Given the description of an element on the screen output the (x, y) to click on. 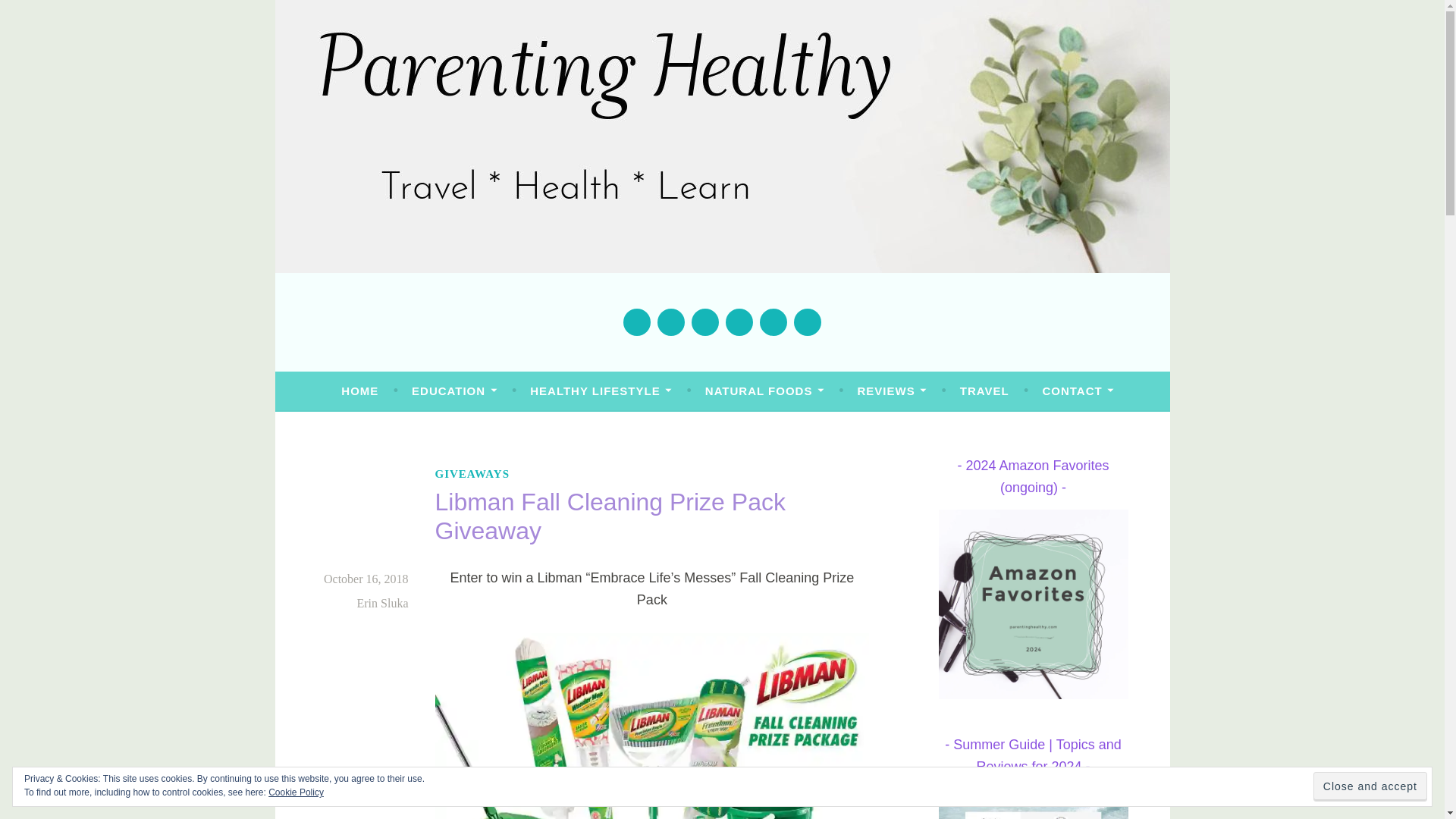
Pinterest (739, 322)
REVIEWS (892, 390)
TRAVEL (984, 390)
Twitter (670, 322)
Close and accept (1369, 786)
YouTube (772, 322)
Erin Sluka (381, 603)
Libman Fall Cleaning Prize Pack Giveaway (652, 726)
NATURAL FOODS (764, 390)
HOME (359, 390)
